Given the description of an element on the screen output the (x, y) to click on. 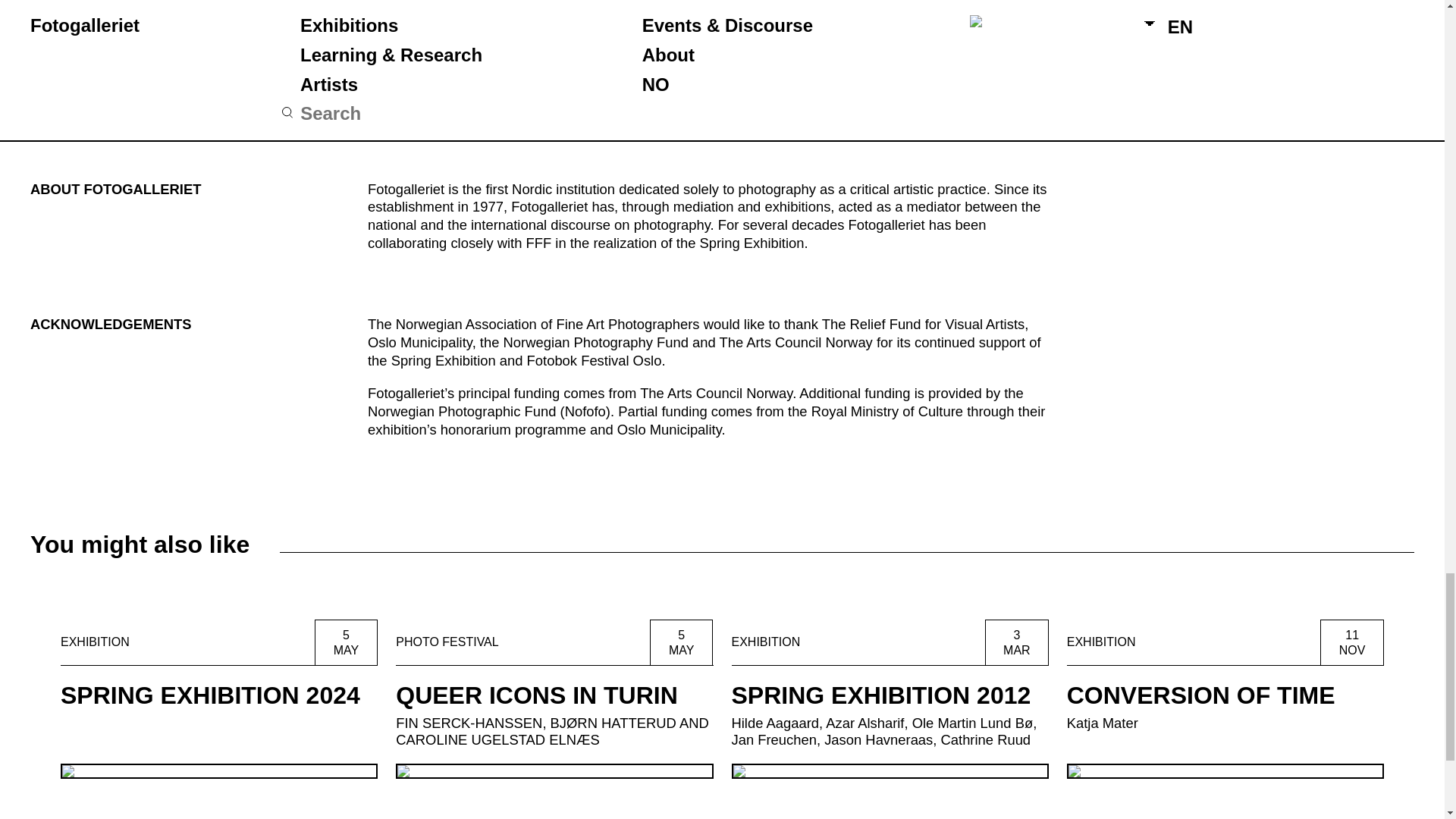
Page 2 (713, 87)
SPRING EXHIBITION 2012 (889, 698)
QUEER ICONS IN TURIN (554, 698)
CONVERSION OF TIME (219, 698)
SPRING EXHIBITION 2024 (1225, 698)
Page 2 (1225, 698)
Page 2 (219, 698)
